Given the description of an element on the screen output the (x, y) to click on. 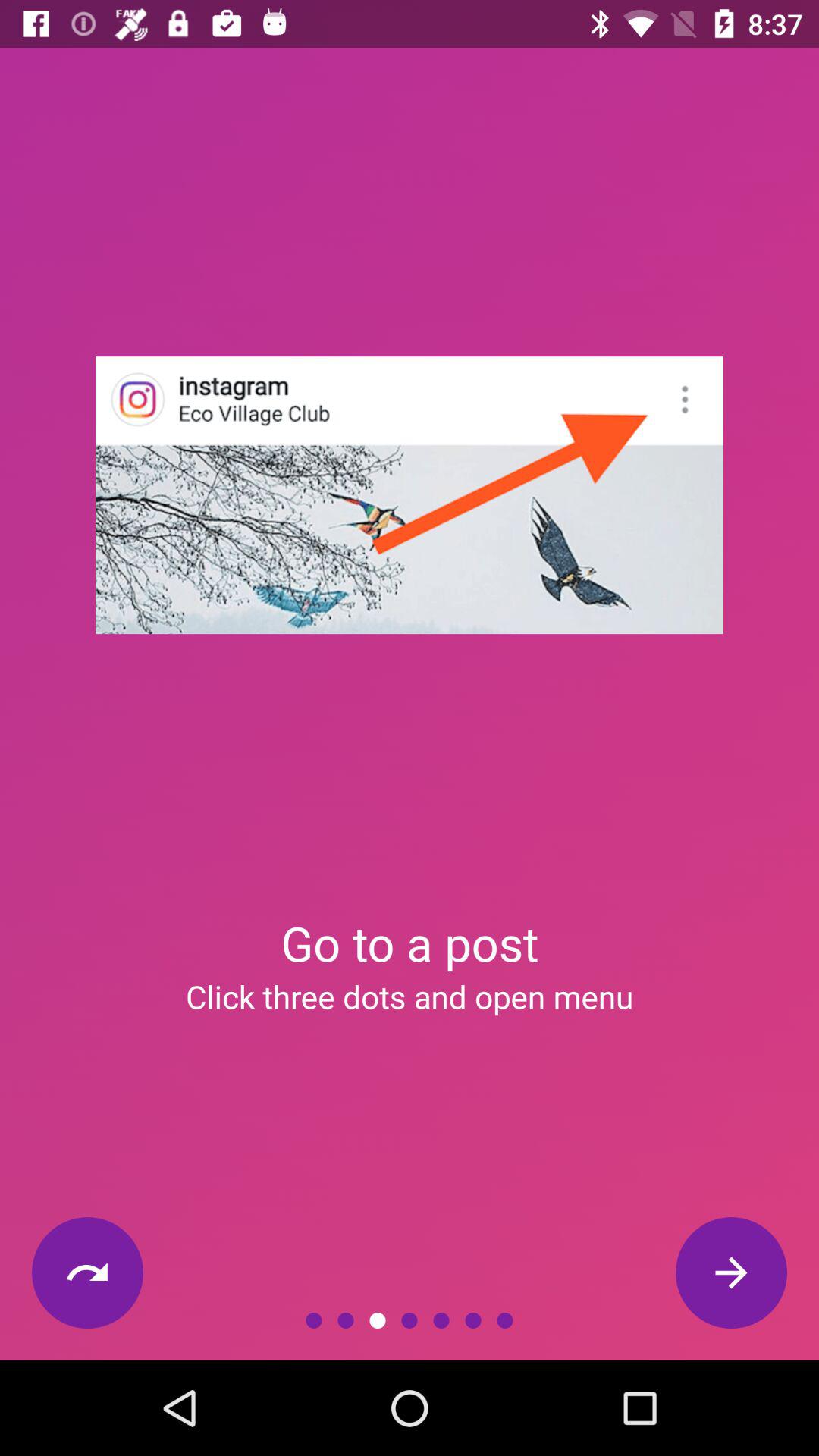
click icon at the bottom right corner (731, 1272)
